Given the description of an element on the screen output the (x, y) to click on. 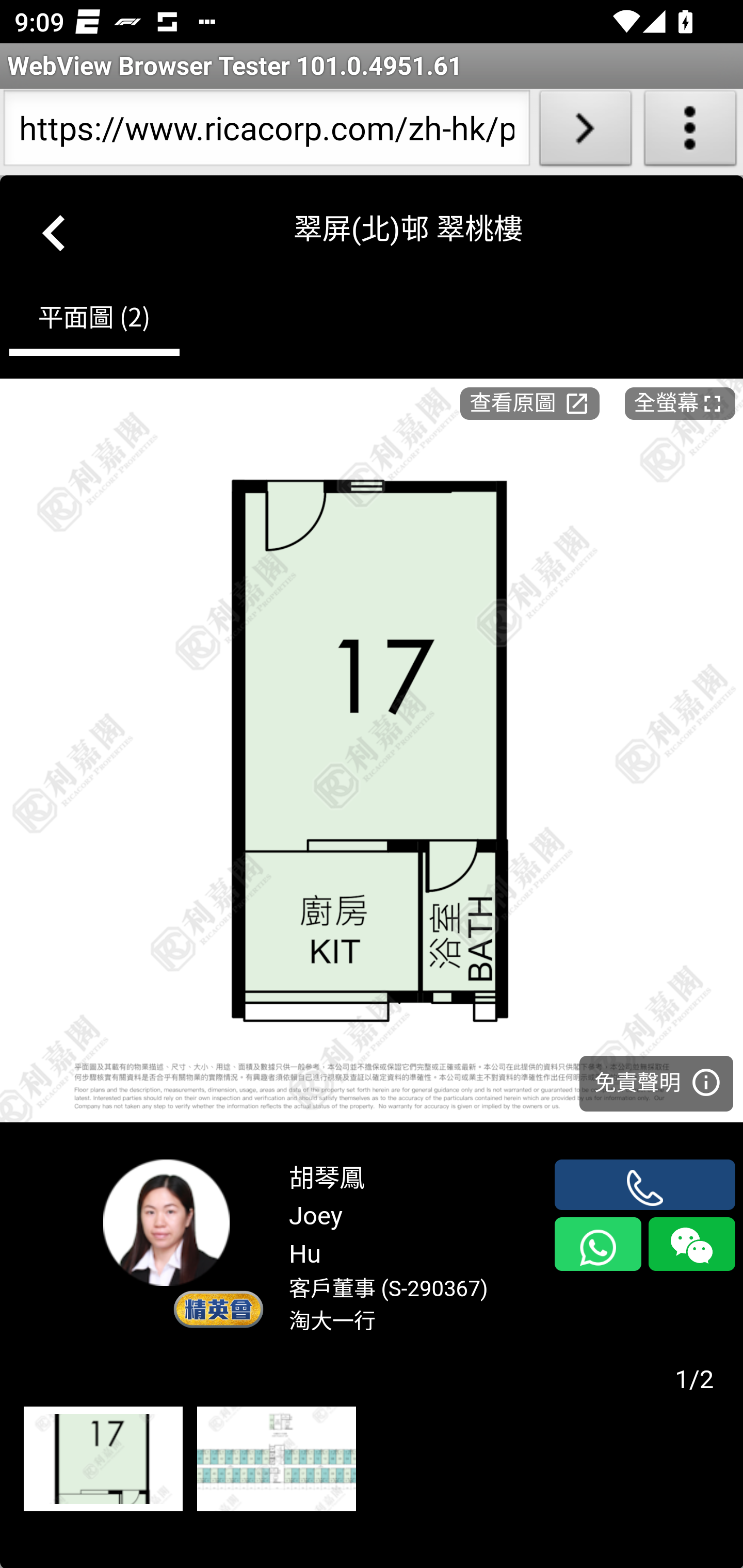
Load URL (585, 132)
About WebView (690, 132)
keyboard_arrow_left (54, 229)
平面圖 (2) (93, 320)
image (371, 749)
查看原圖launch (528, 402)
全螢幕fullscreen (679, 402)
免責聲明 (656, 1082)
phone (644, 1184)
whatsapp (597, 1244)
wechat (691, 1244)
161444_2000_Ricacorp (102, 1459)
161367_2000_Ricacorp (275, 1459)
